Given the description of an element on the screen output the (x, y) to click on. 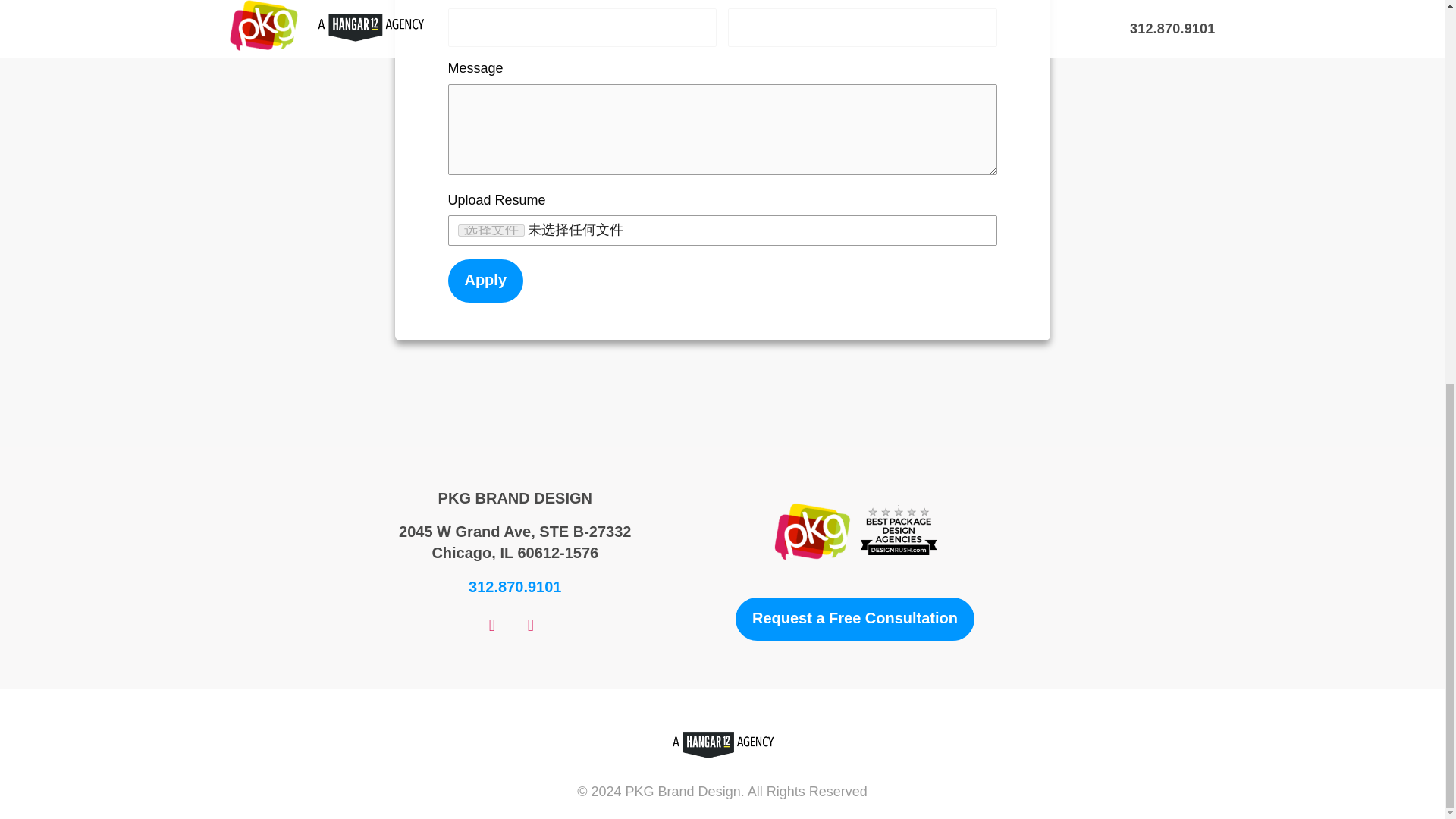
Request a Free Consultation (854, 618)
Apply (484, 280)
Apply (484, 280)
312.870.9101 (514, 586)
